Given the description of an element on the screen output the (x, y) to click on. 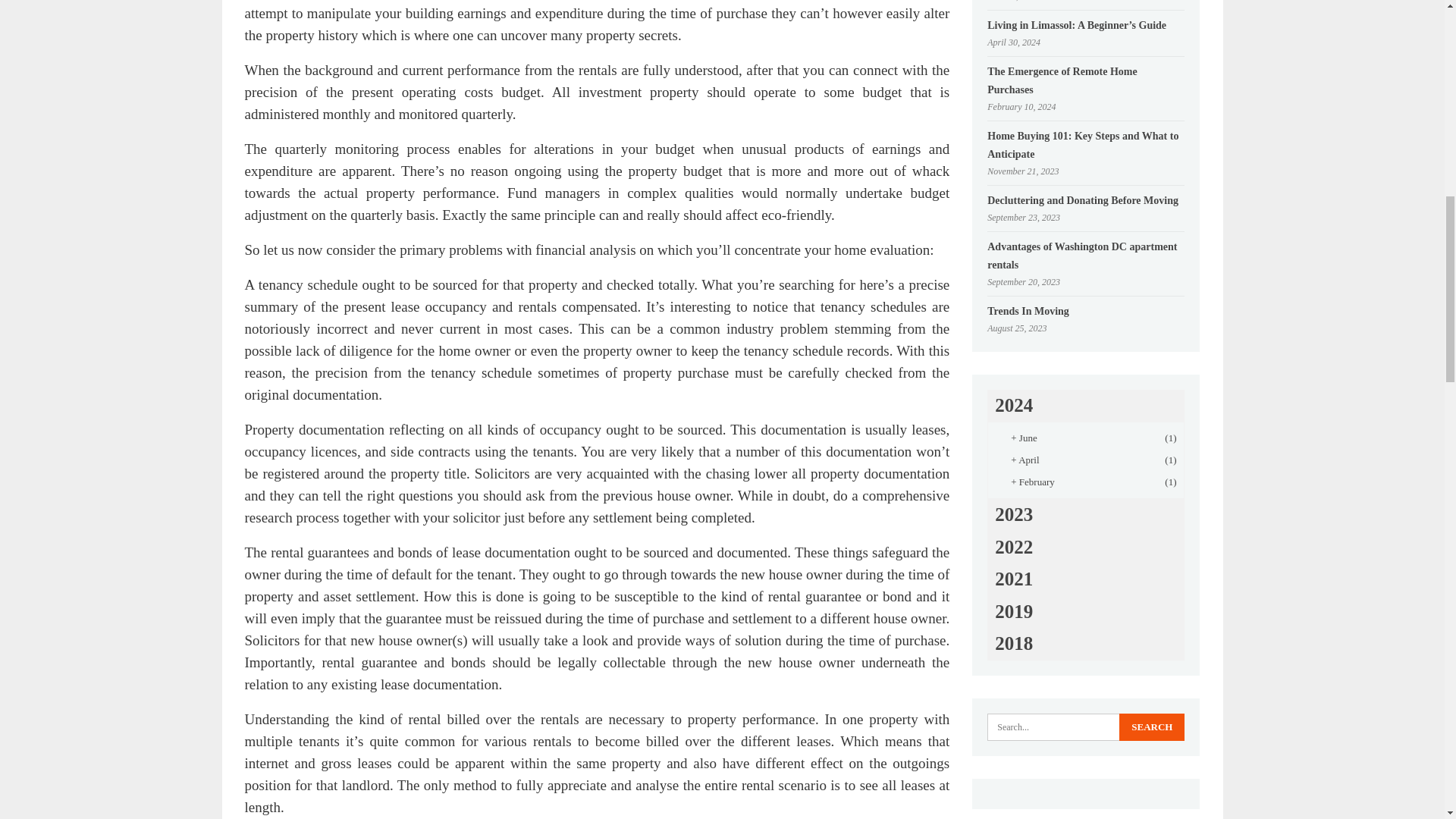
Search for: (1086, 727)
Search (1152, 727)
Search (1152, 727)
